Given the description of an element on the screen output the (x, y) to click on. 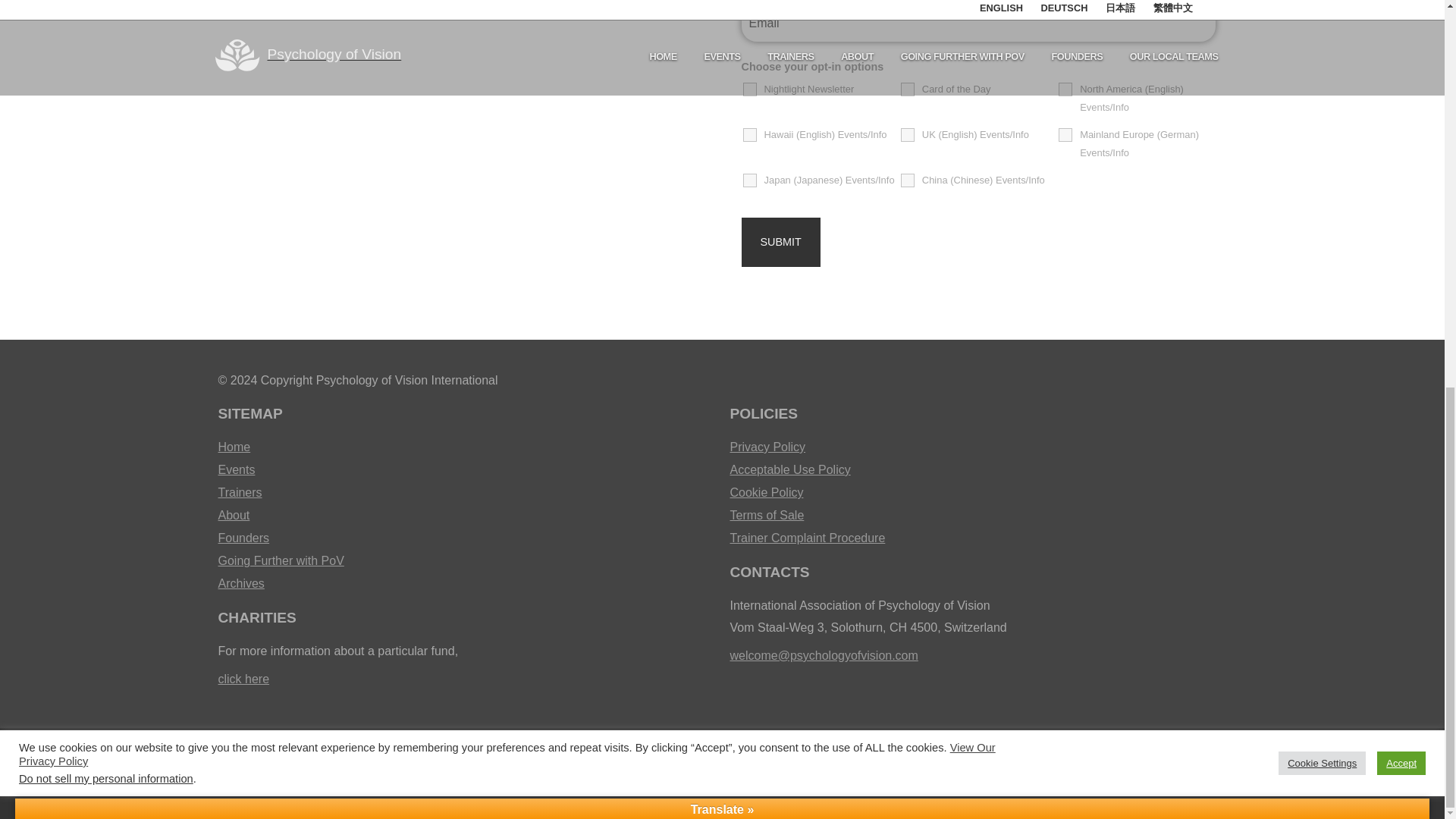
Trainers (466, 492)
Terms of Sale (977, 515)
Founders (466, 538)
Events (466, 469)
Acceptable Use Policy (977, 469)
About (466, 515)
Cookie Policy (977, 492)
Home (466, 446)
Submit (781, 241)
click here (243, 678)
Archives (466, 583)
Submit (781, 241)
Privacy Policy (977, 446)
Going Further with PoV (466, 560)
